Given the description of an element on the screen output the (x, y) to click on. 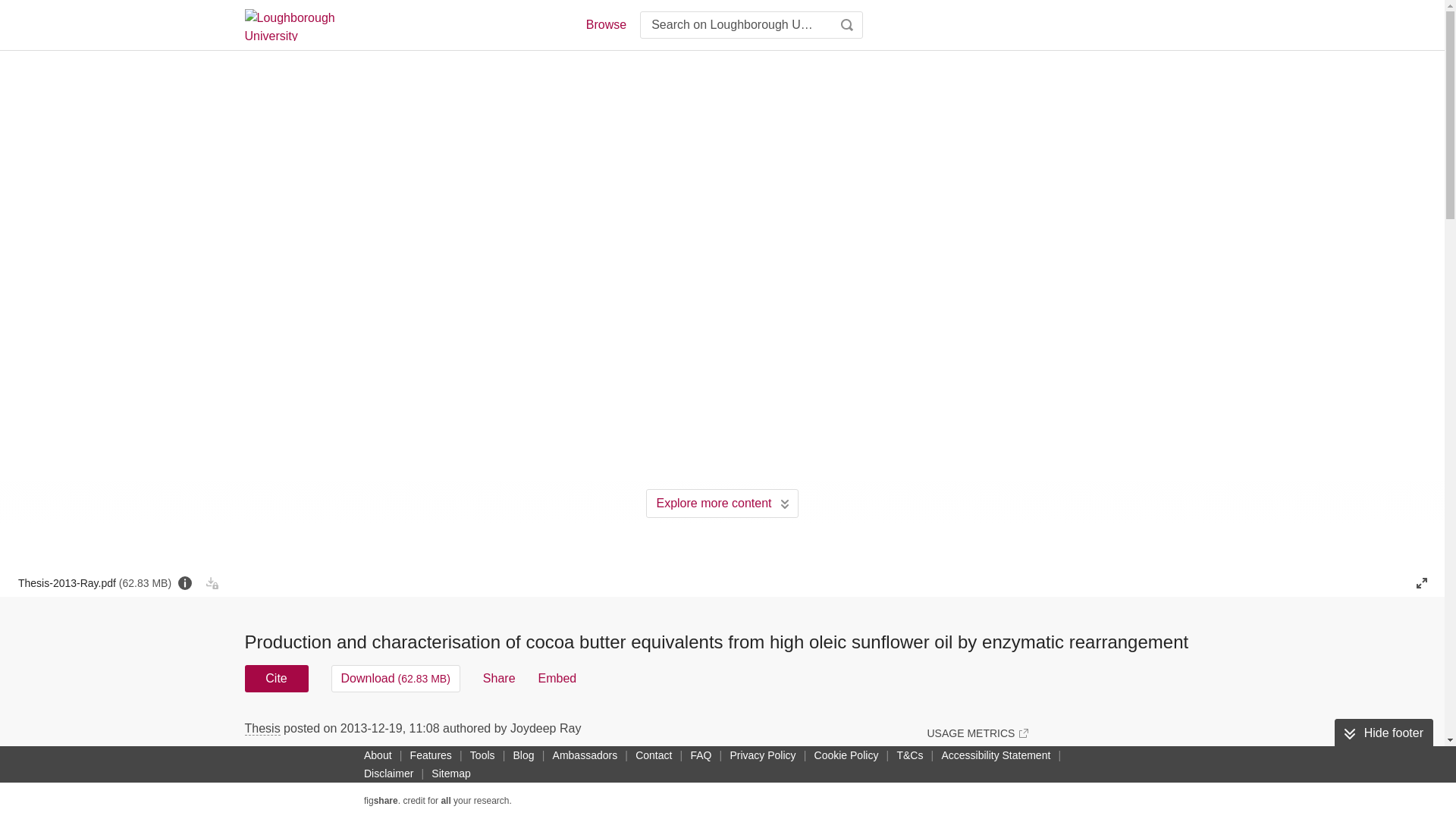
Embed (557, 678)
About (377, 755)
Ambassadors (585, 755)
Tools (482, 755)
USAGE METRICS (976, 732)
Share (499, 678)
Blog (523, 755)
Explore more content (721, 502)
Cite (275, 678)
Accessibility Statement (995, 755)
Contact (653, 755)
Cookie Policy (846, 755)
Features (431, 755)
FAQ (700, 755)
